Given the description of an element on the screen output the (x, y) to click on. 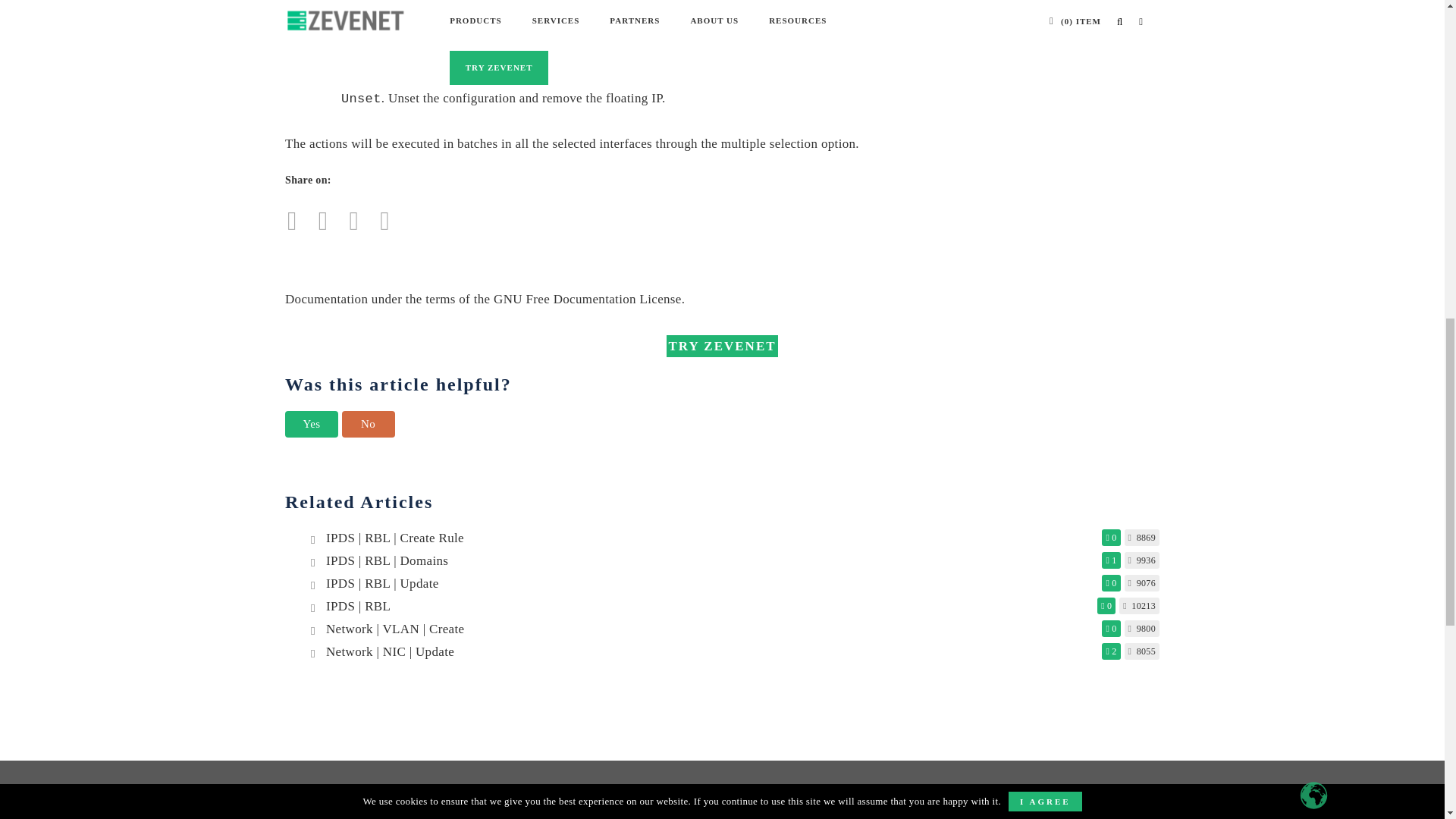
Share on Facebook (322, 225)
Share on Twitter (292, 225)
Share on Linkedin (384, 225)
